Given the description of an element on the screen output the (x, y) to click on. 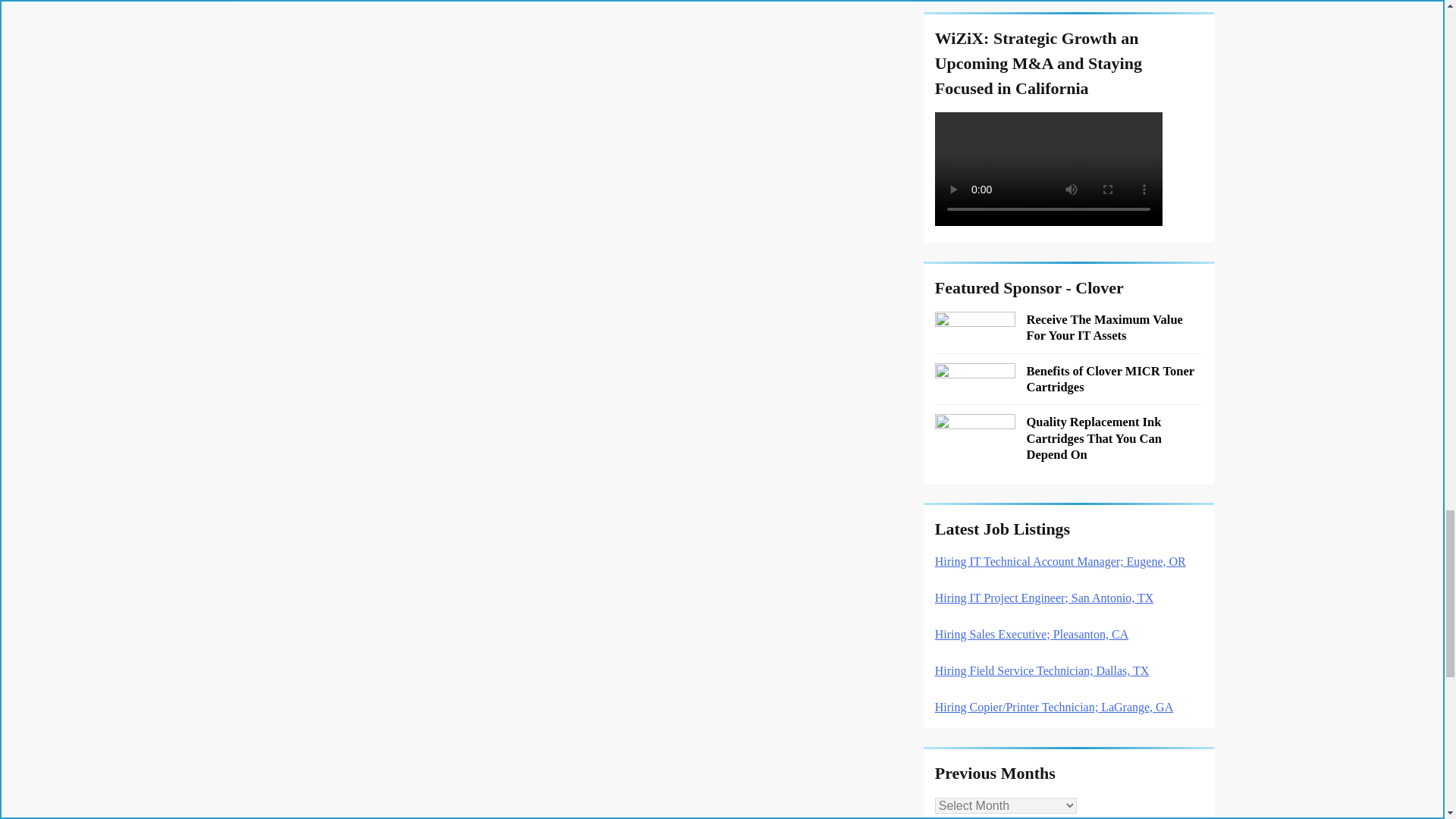
Hiring Field Service Technician; Dallas, TX (1042, 670)
Hiring IT Project Engineer; San Antonio, TX (1044, 597)
Hiring IT Technical Account Manager; Eugene, OR (1060, 561)
Hiring Sales Executive; Pleasanton, CA (1031, 634)
